Given the description of an element on the screen output the (x, y) to click on. 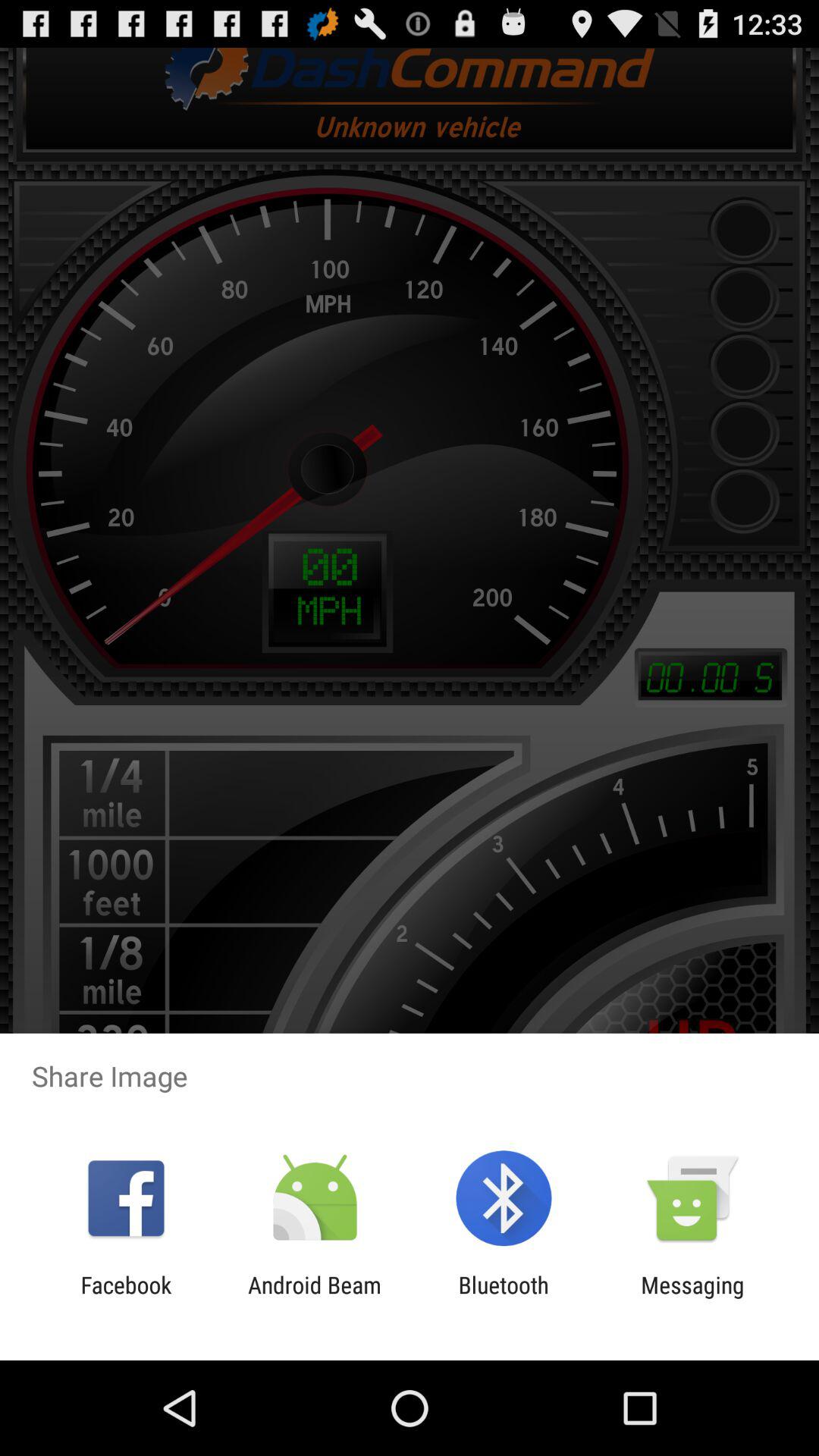
tap the android beam item (314, 1298)
